Given the description of an element on the screen output the (x, y) to click on. 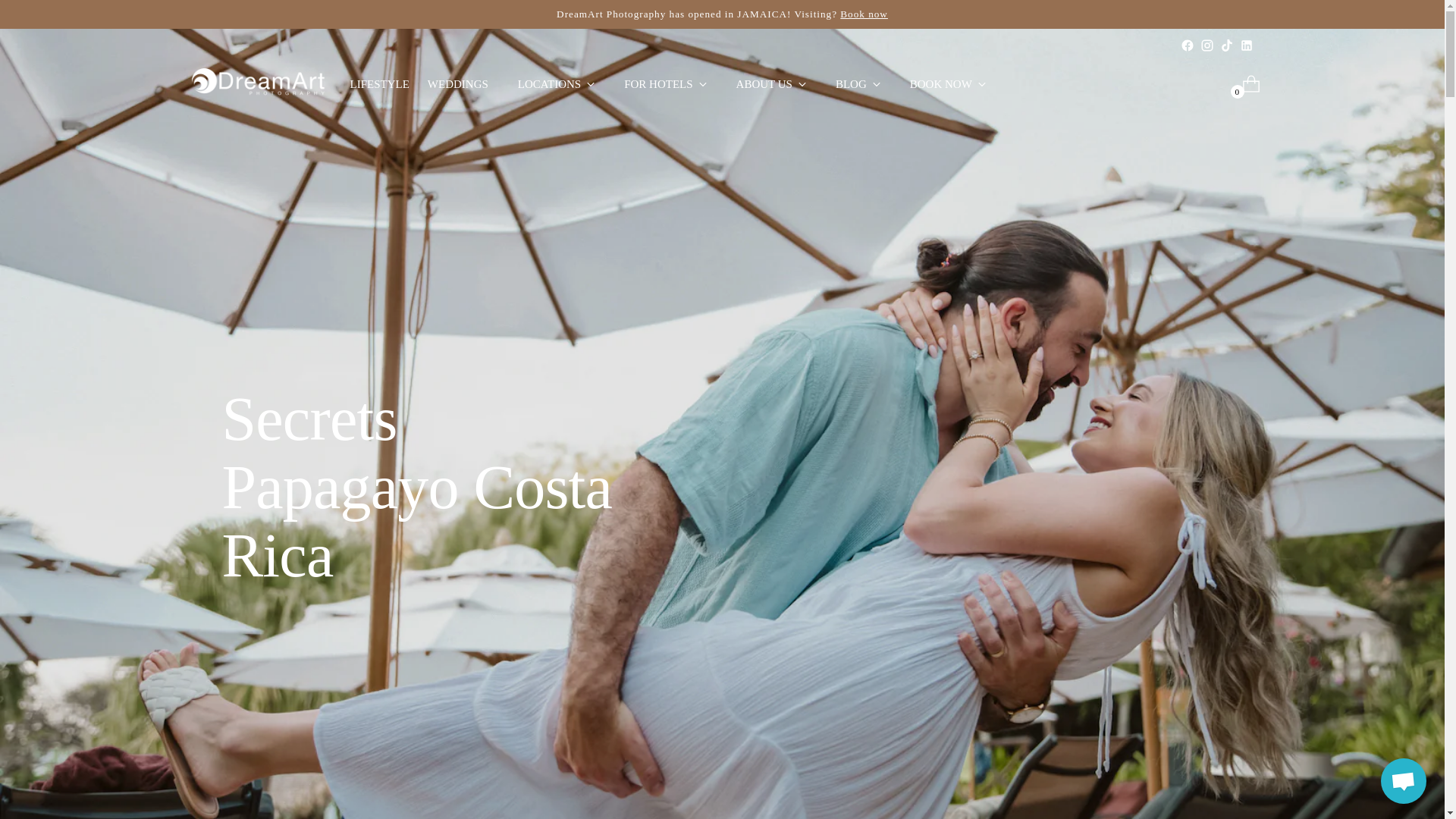
DreamArt Photography on Instagram (1205, 45)
DreamArt Photography on Tiktok (1226, 45)
DreamArt Photography on LinkedIn (1245, 45)
WEDDINGS (457, 83)
FOR HOTELS (665, 83)
LOCATIONS (556, 83)
LIFESTYLE (379, 83)
DreamArt Photography on Facebook (1186, 45)
Book now (864, 13)
